Given the description of an element on the screen output the (x, y) to click on. 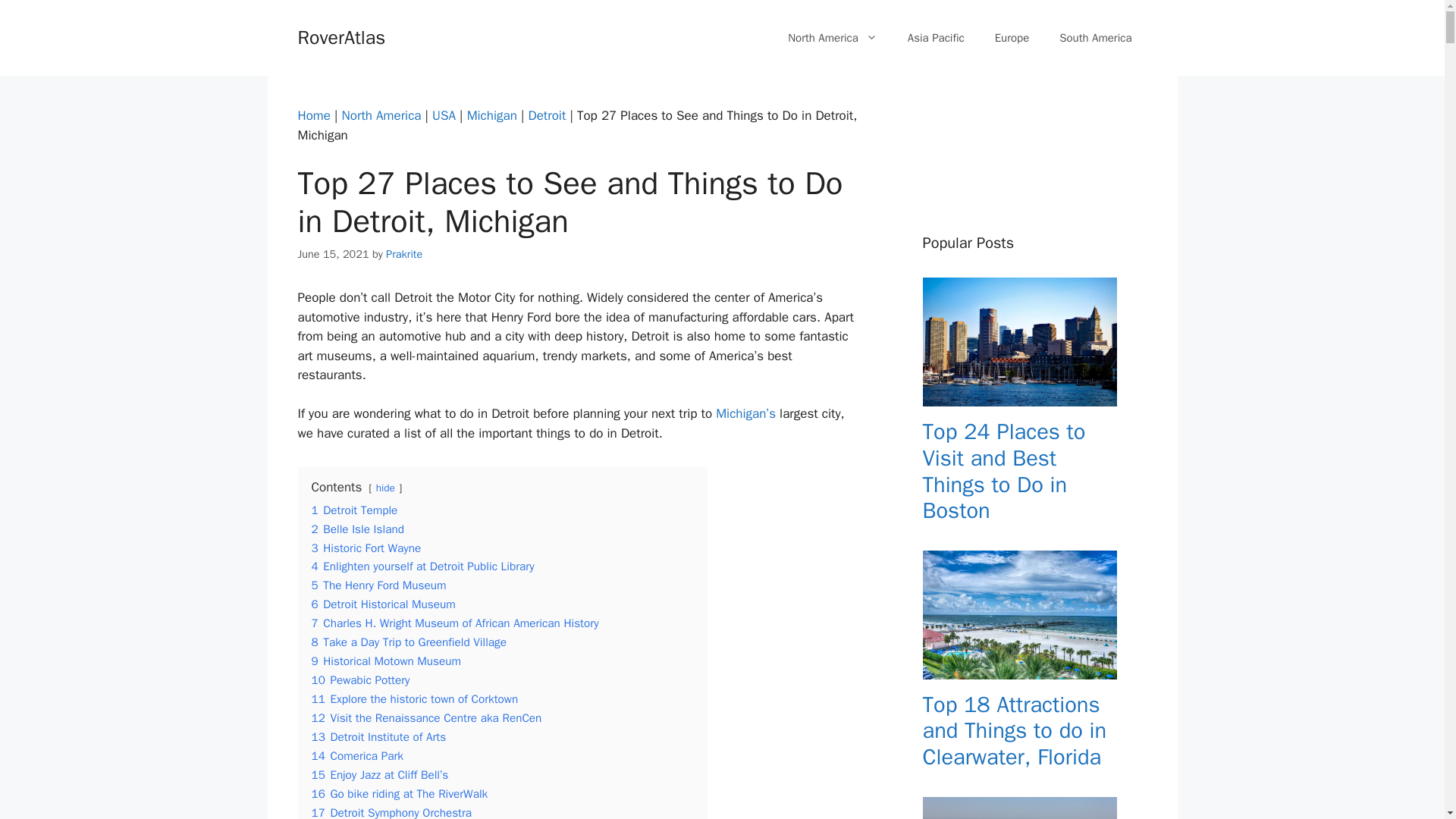
17 Detroit Symphony Orchestra (391, 812)
10 Pewabic Pottery (360, 679)
4 Enlighten yourself at Detroit Public Library (422, 566)
11 Explore the historic town of Corktown (414, 698)
8 Take a Day Trip to Greenfield Village (408, 642)
North America (832, 37)
2 Belle Isle Island (357, 529)
6 Detroit Historical Museum (382, 604)
South America (1095, 37)
14 Comerica Park (357, 755)
North America (382, 115)
13 Detroit Institute of Arts (378, 736)
Europe (1012, 37)
1 Detroit Temple (354, 509)
USA (443, 115)
